Given the description of an element on the screen output the (x, y) to click on. 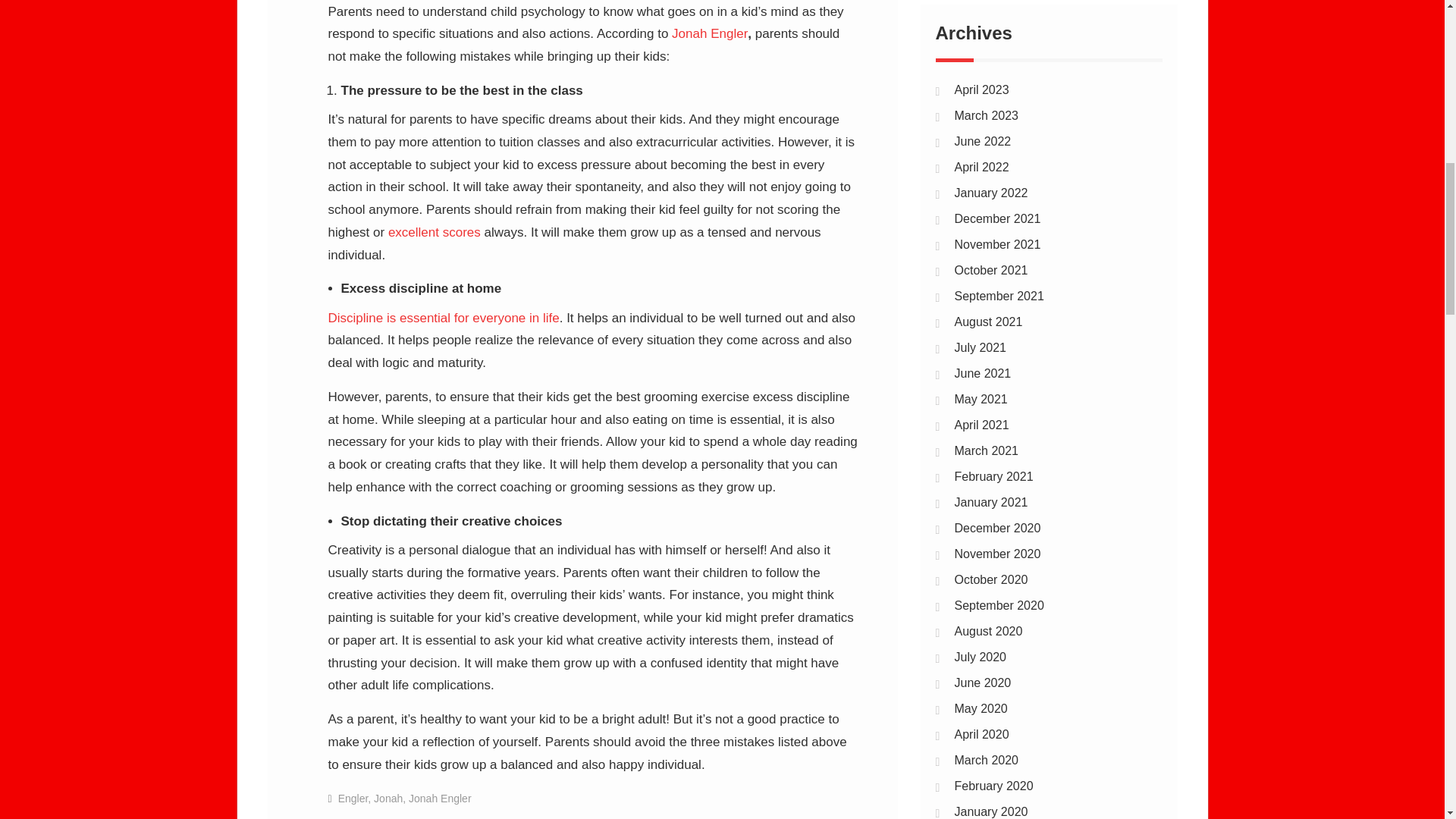
Jonah Engler (709, 33)
Discipline is essential for everyone in life (443, 318)
Jonah Engler (440, 798)
Engler (352, 798)
excellent scores (434, 232)
Jonah (388, 798)
